Given the description of an element on the screen output the (x, y) to click on. 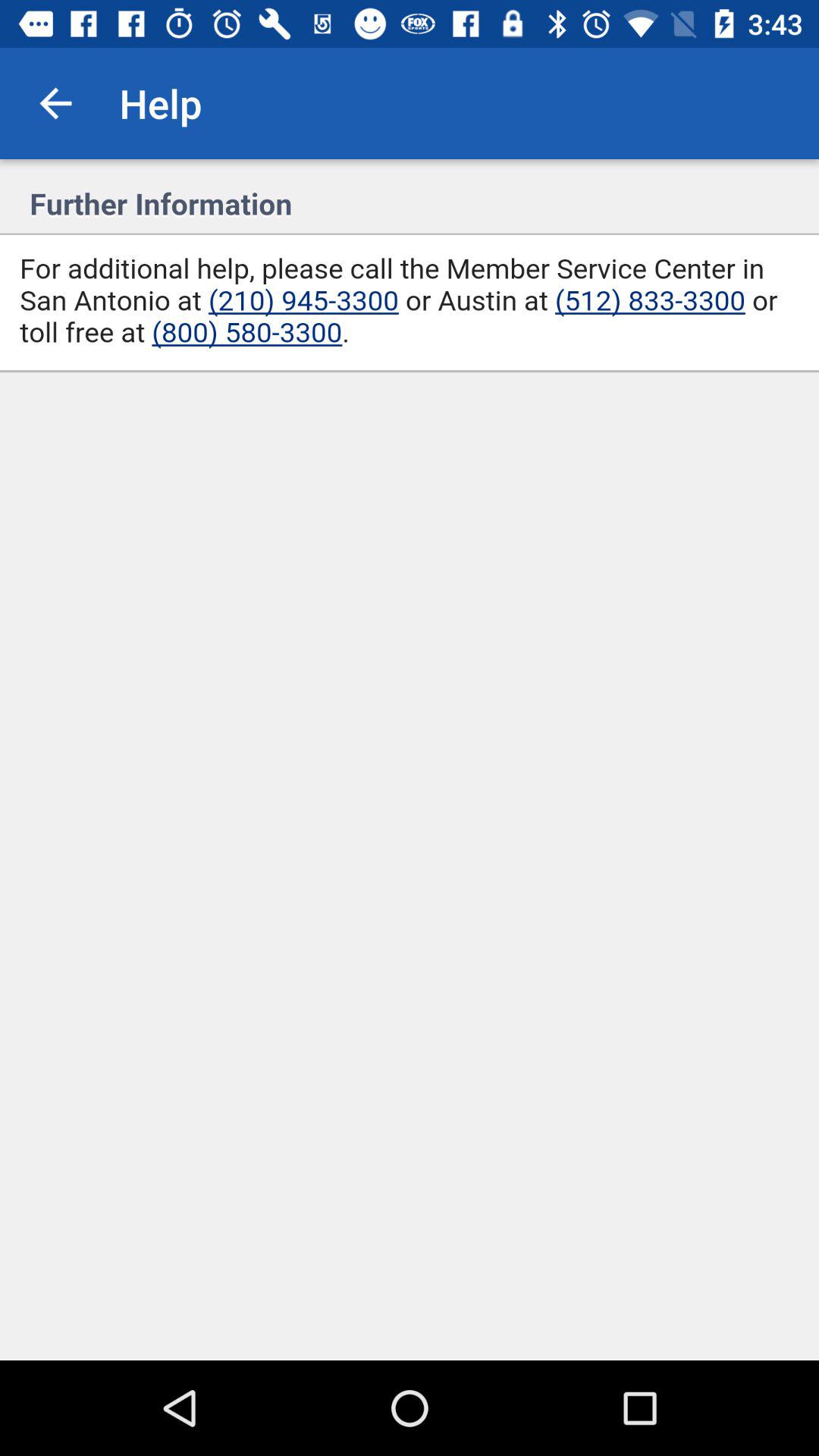
display page (409, 759)
